Given the description of an element on the screen output the (x, y) to click on. 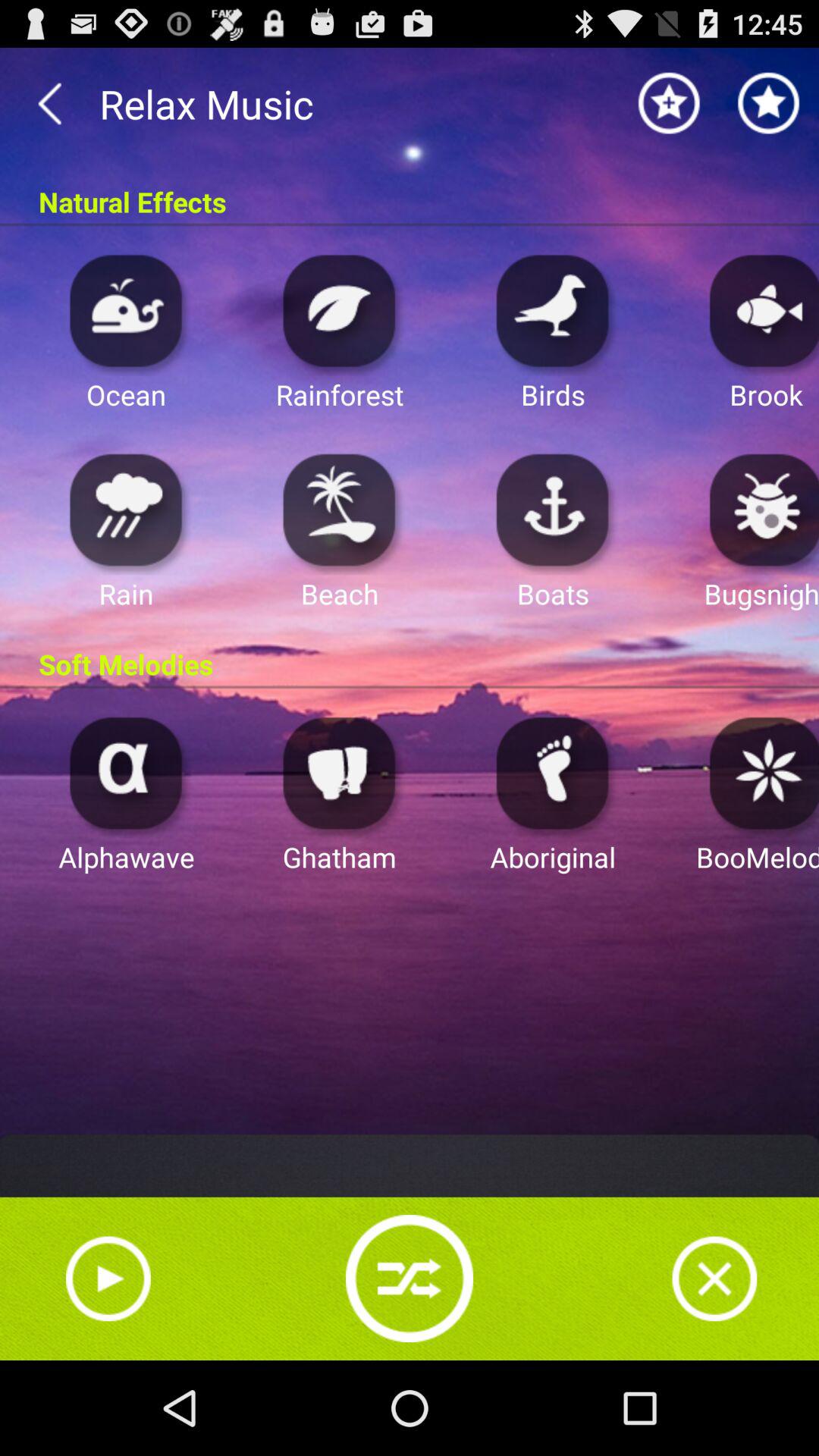
open the item below the alphawave app (107, 1278)
